Given the description of an element on the screen output the (x, y) to click on. 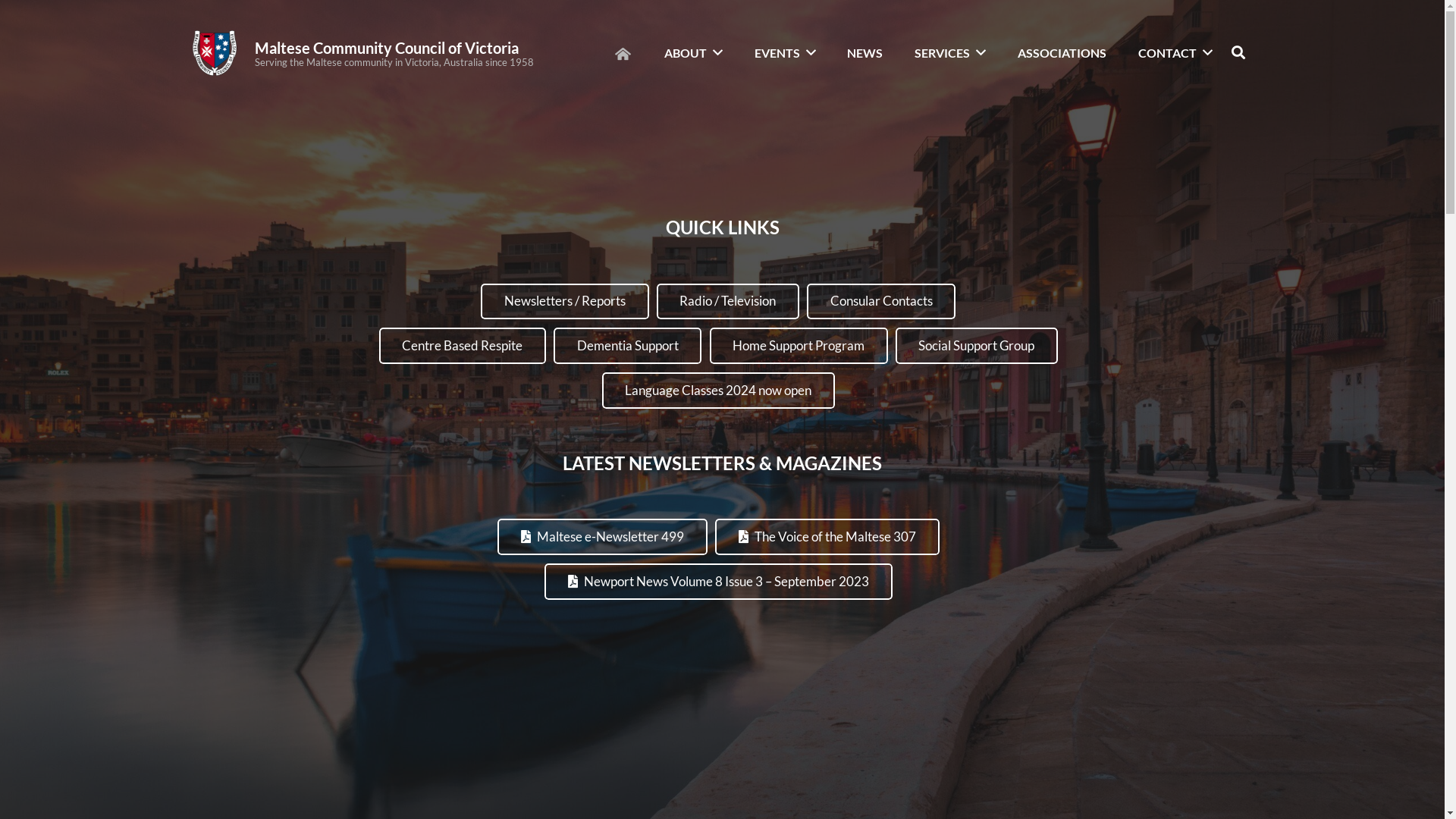
ABOUT Element type: text (693, 53)
Newsletters / Reports Element type: text (564, 301)
The Voice of the Maltese 307 Element type: text (827, 536)
ASSOCIATIONS Element type: text (1062, 53)
Dementia Support Element type: text (627, 345)
Consular Contacts Element type: text (880, 301)
Maltese Community Council of Victoria Element type: text (386, 47)
Radio / Television Element type: text (727, 301)
SERVICES Element type: text (949, 53)
Maltese e-Newsletter 499 Element type: text (602, 536)
CONTACT Element type: text (1175, 53)
EVENTS Element type: text (784, 53)
NEWS Element type: text (864, 53)
Home Support Program Element type: text (798, 345)
Centre Based Respite Element type: text (462, 345)
Social Support Group Element type: text (976, 345)
Language Classes 2024 now open Element type: text (718, 390)
